Given the description of an element on the screen output the (x, y) to click on. 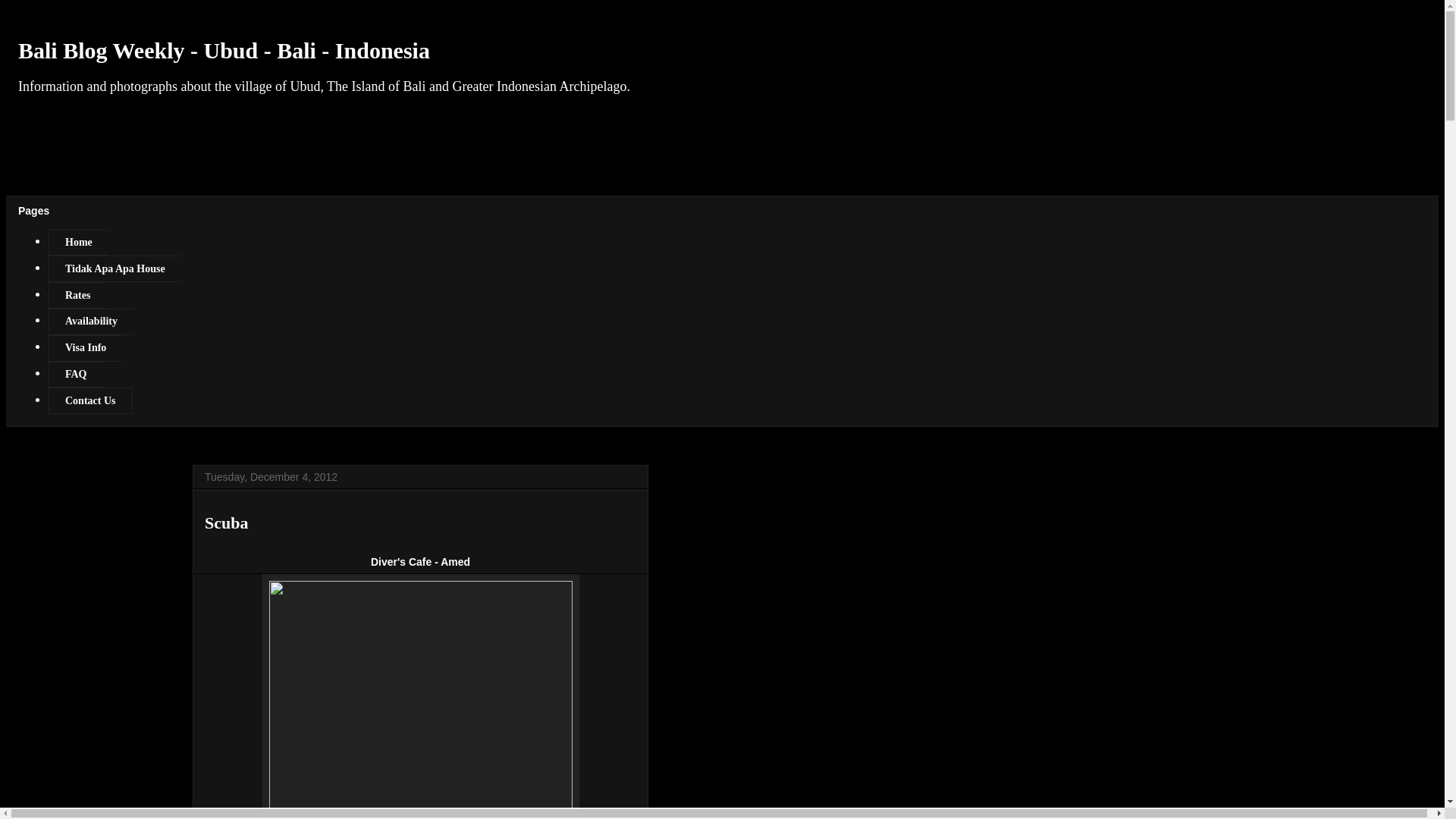
FAQ (75, 374)
Bali Blog Weekly - Ubud - Bali - Indonesia (223, 50)
Contact Us (90, 400)
Availability (90, 321)
Visa Info (85, 347)
Tidak Apa Apa House (114, 268)
Home (77, 243)
Rates (77, 294)
